Given the description of an element on the screen output the (x, y) to click on. 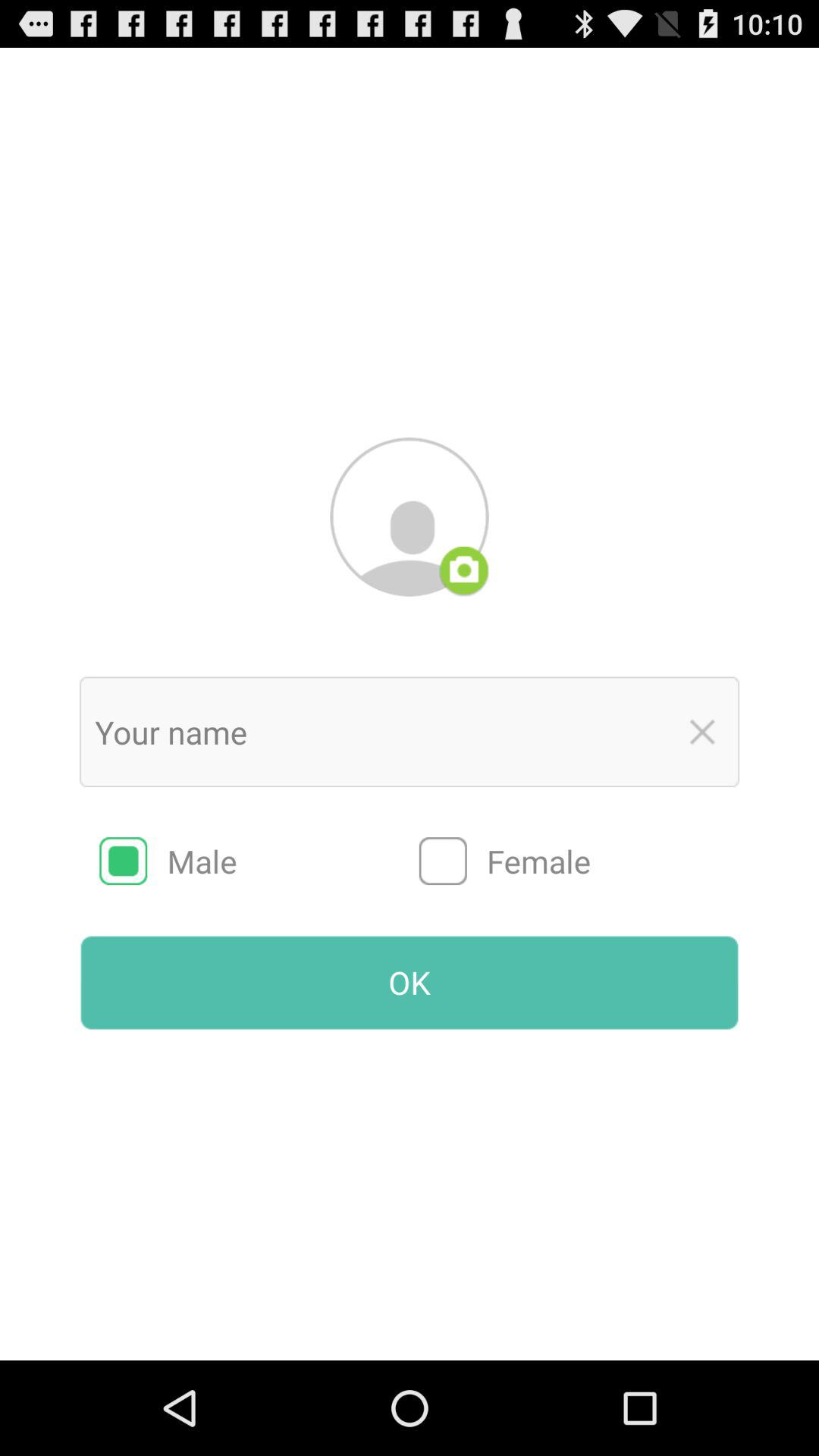
take photo (464, 571)
